Given the description of an element on the screen output the (x, y) to click on. 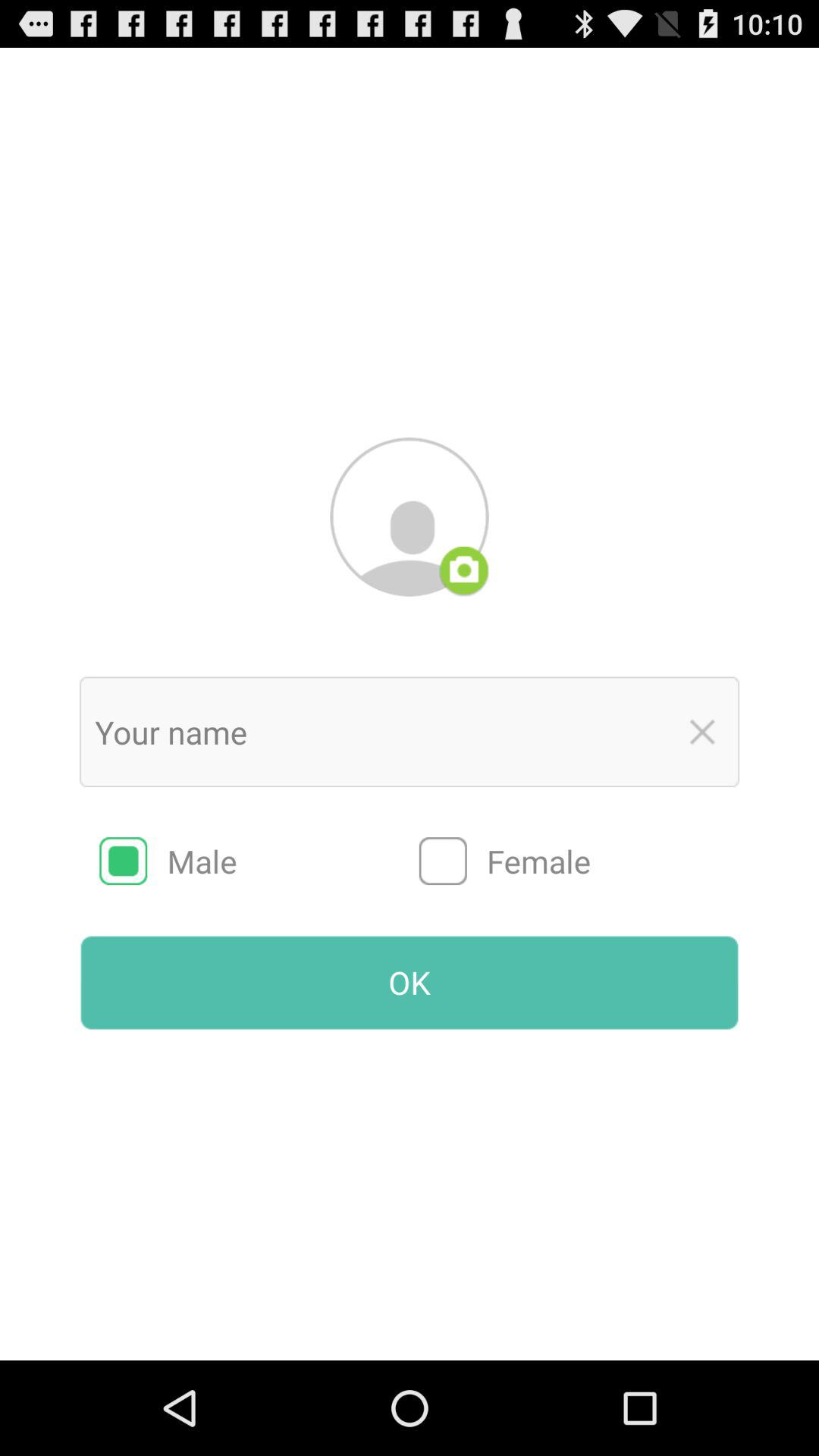
take photo (464, 571)
